Given the description of an element on the screen output the (x, y) to click on. 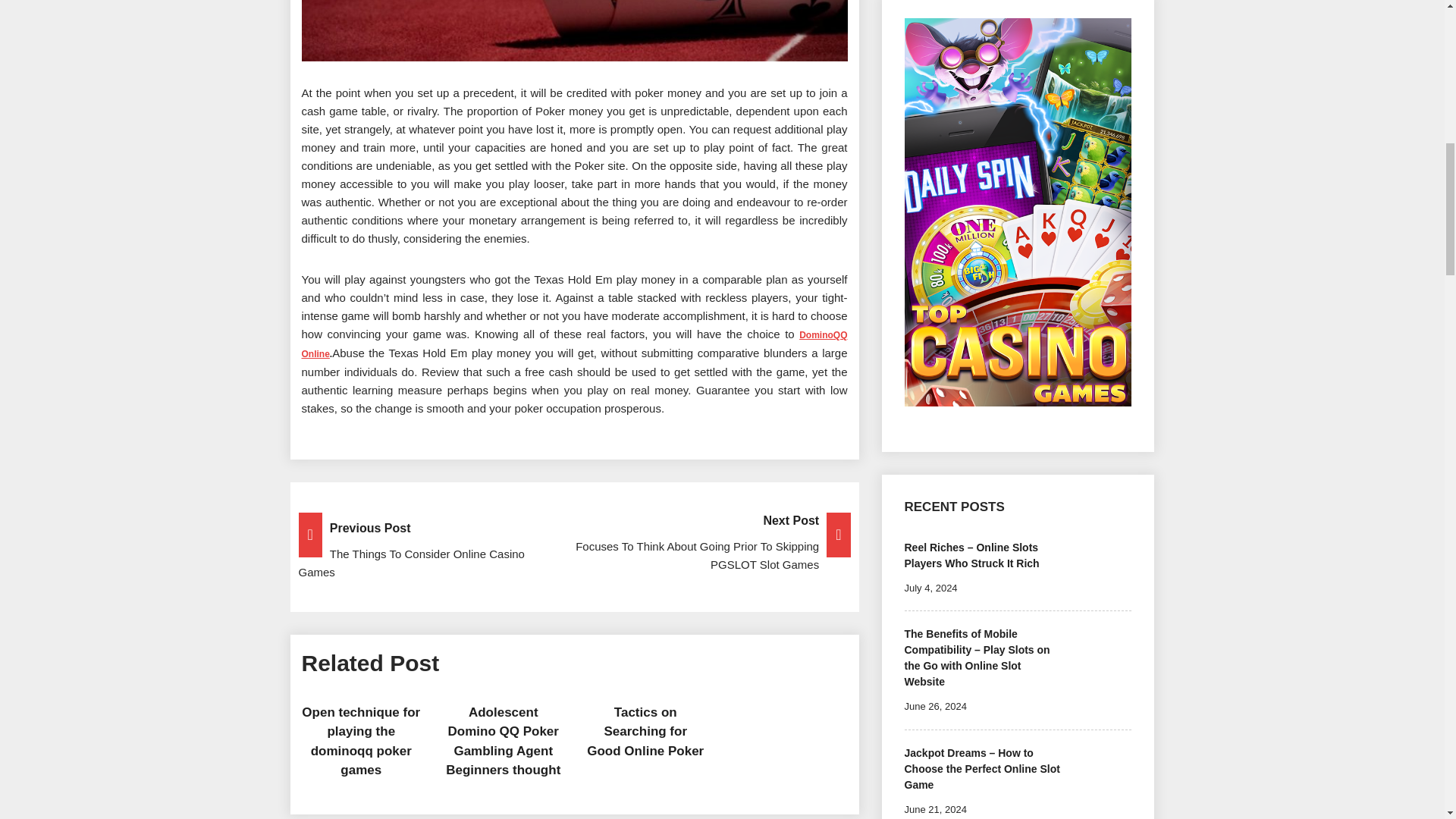
Tactics on Searching for Good Online Poker (644, 731)
Open technique for playing the dominoqq poker games (360, 741)
DominoQQ Online (574, 344)
Adolescent Domino QQ Poker Gambling Agent Beginners thought (502, 741)
